Given the description of an element on the screen output the (x, y) to click on. 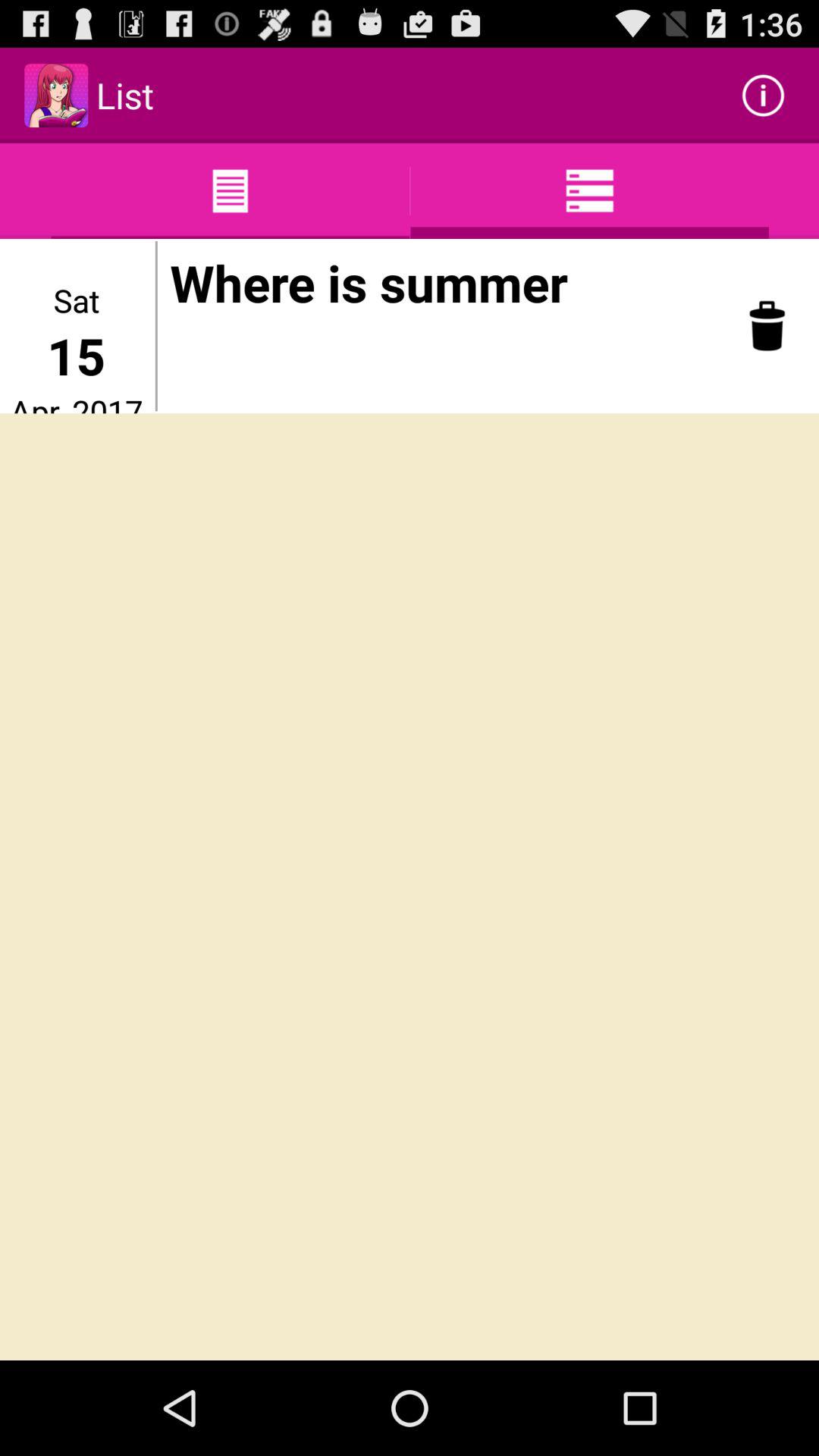
choose sat app (76, 299)
